Given the description of an element on the screen output the (x, y) to click on. 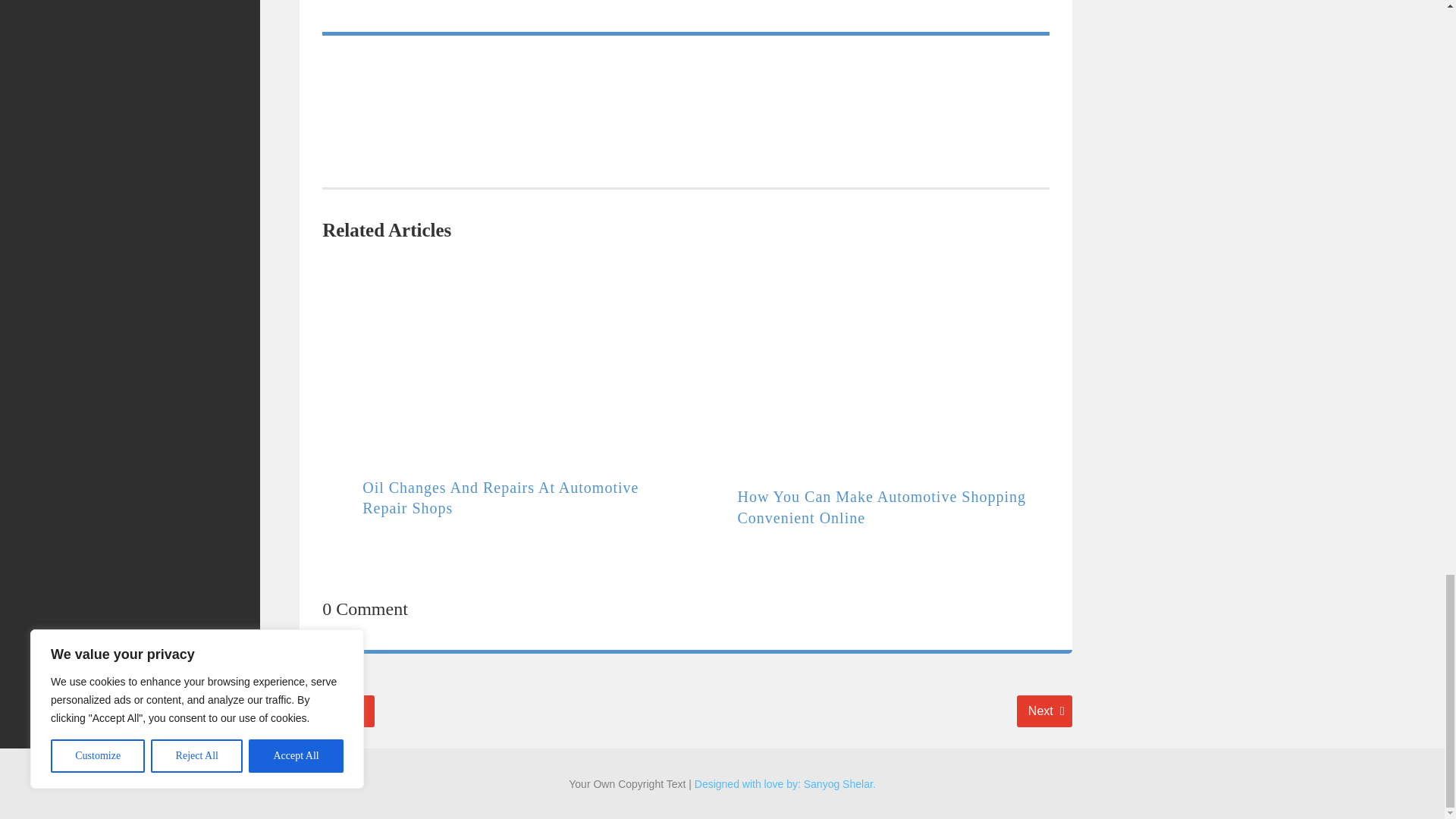
How You Can Make Automotive Shopping Convenient Online (1043, 711)
Oil Changes And Repairs At Automotive Repair Shops (880, 507)
